Given the description of an element on the screen output the (x, y) to click on. 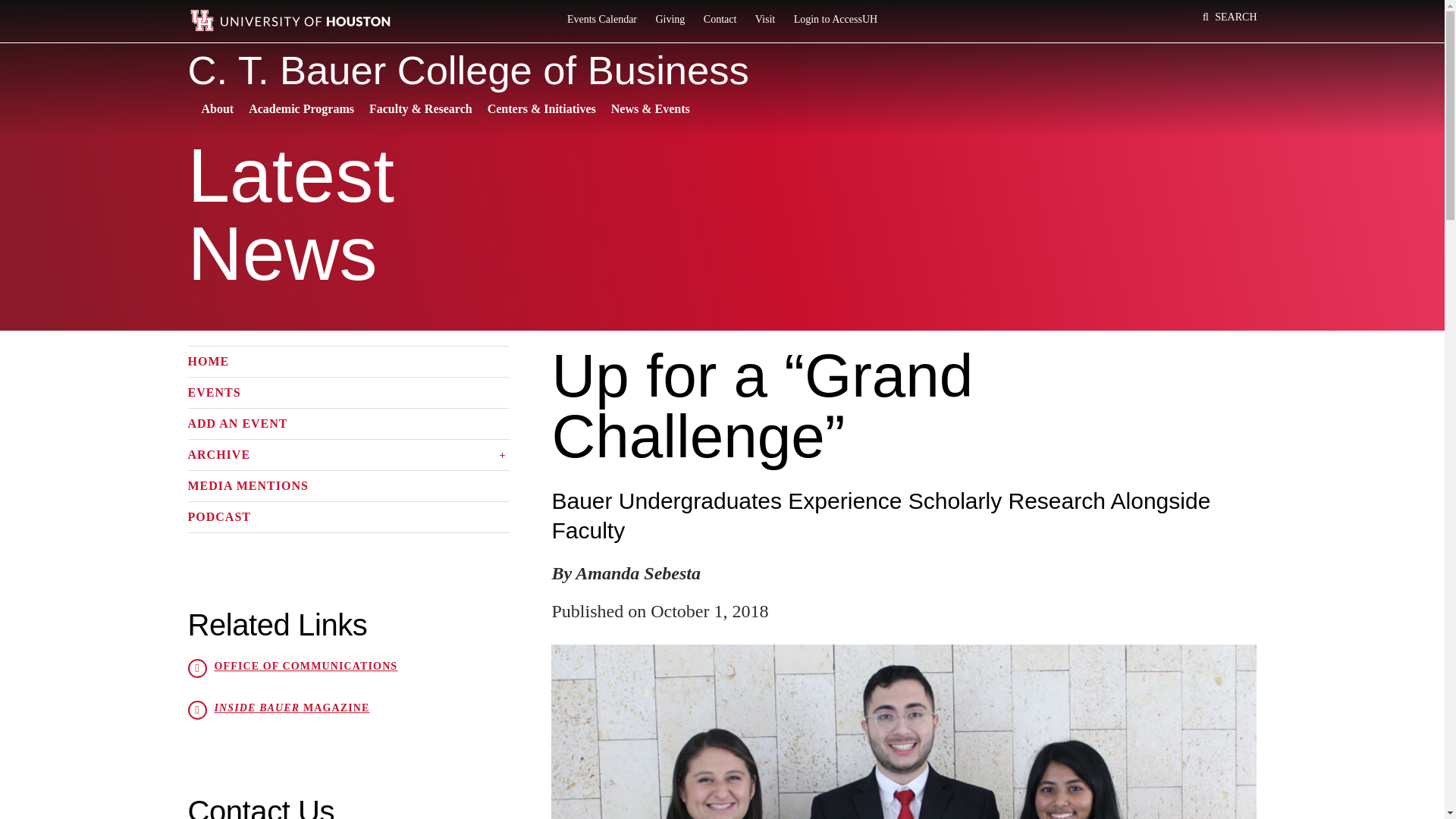
C. T. Bauer College of Business (722, 71)
Contact (719, 19)
About (217, 109)
SEARCH (1229, 16)
Events Calendar (602, 19)
Visit (764, 19)
Academic Programs (301, 109)
Giving (669, 19)
Login to AccessUH (835, 19)
